Given the description of an element on the screen output the (x, y) to click on. 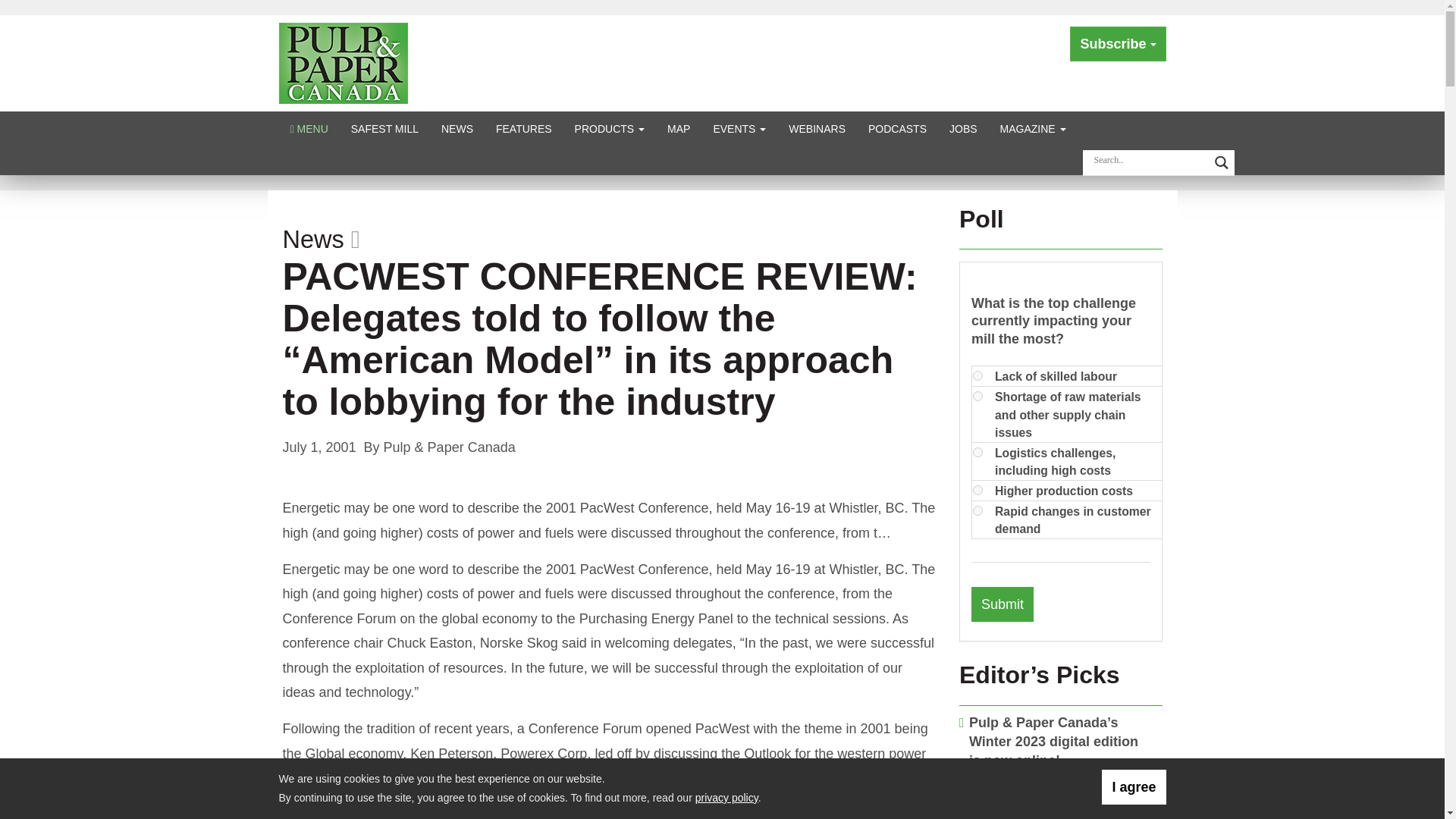
gpoll14aa2f88e (977, 375)
MAP (678, 128)
MENU (309, 128)
EVENTS (739, 128)
Subscribe (1118, 43)
PRODUCTS (609, 128)
SAFEST MILL (384, 128)
MAGAZINE (1032, 128)
WEBINARS (817, 128)
FEATURES (523, 128)
NEWS (456, 128)
Pulp and Paper Canada (343, 61)
gpoll1174047cc (977, 452)
PODCASTS (897, 128)
gpoll1db2c9877 (977, 490)
